Given the description of an element on the screen output the (x, y) to click on. 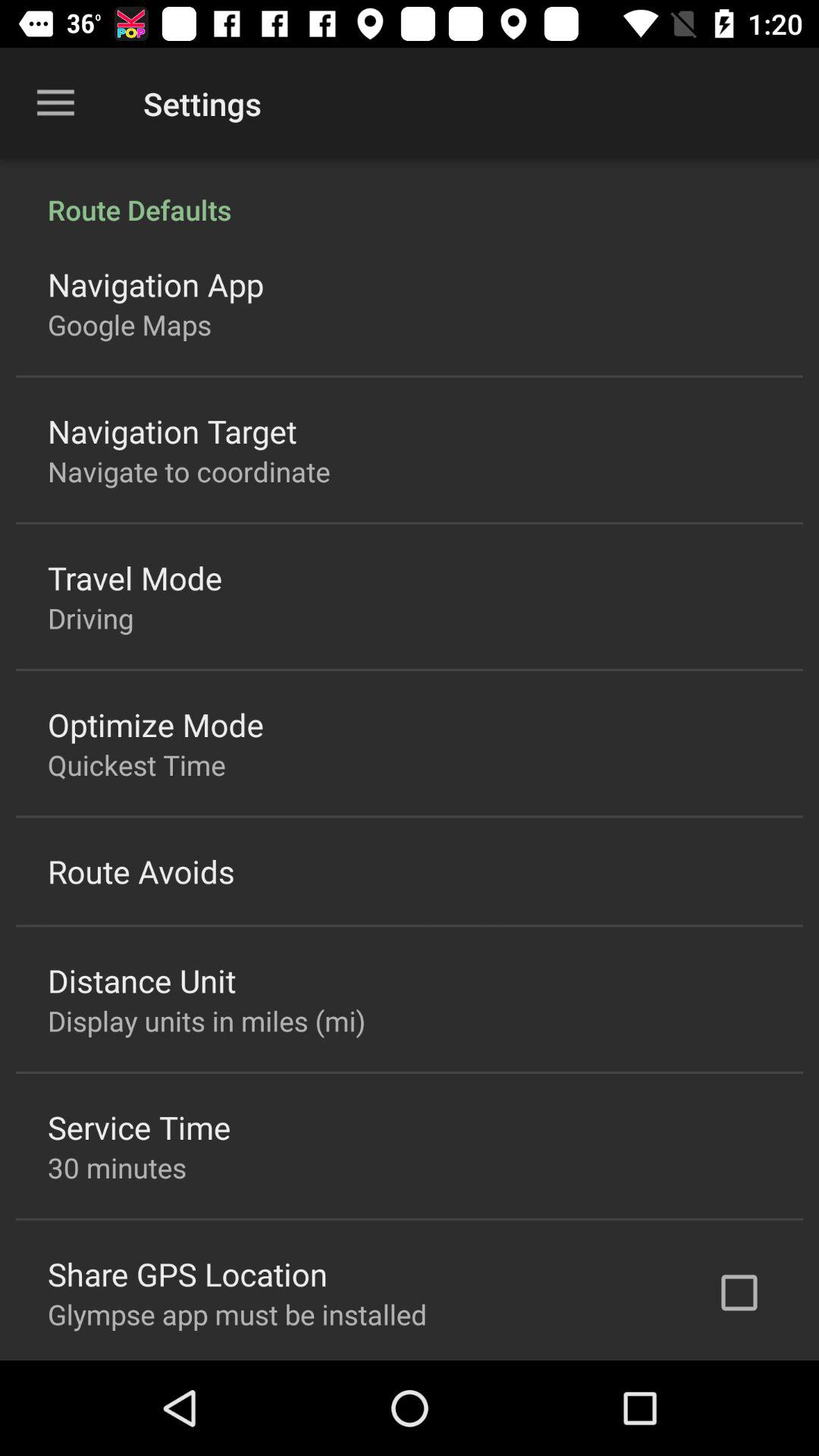
launch the service time icon (138, 1126)
